Given the description of an element on the screen output the (x, y) to click on. 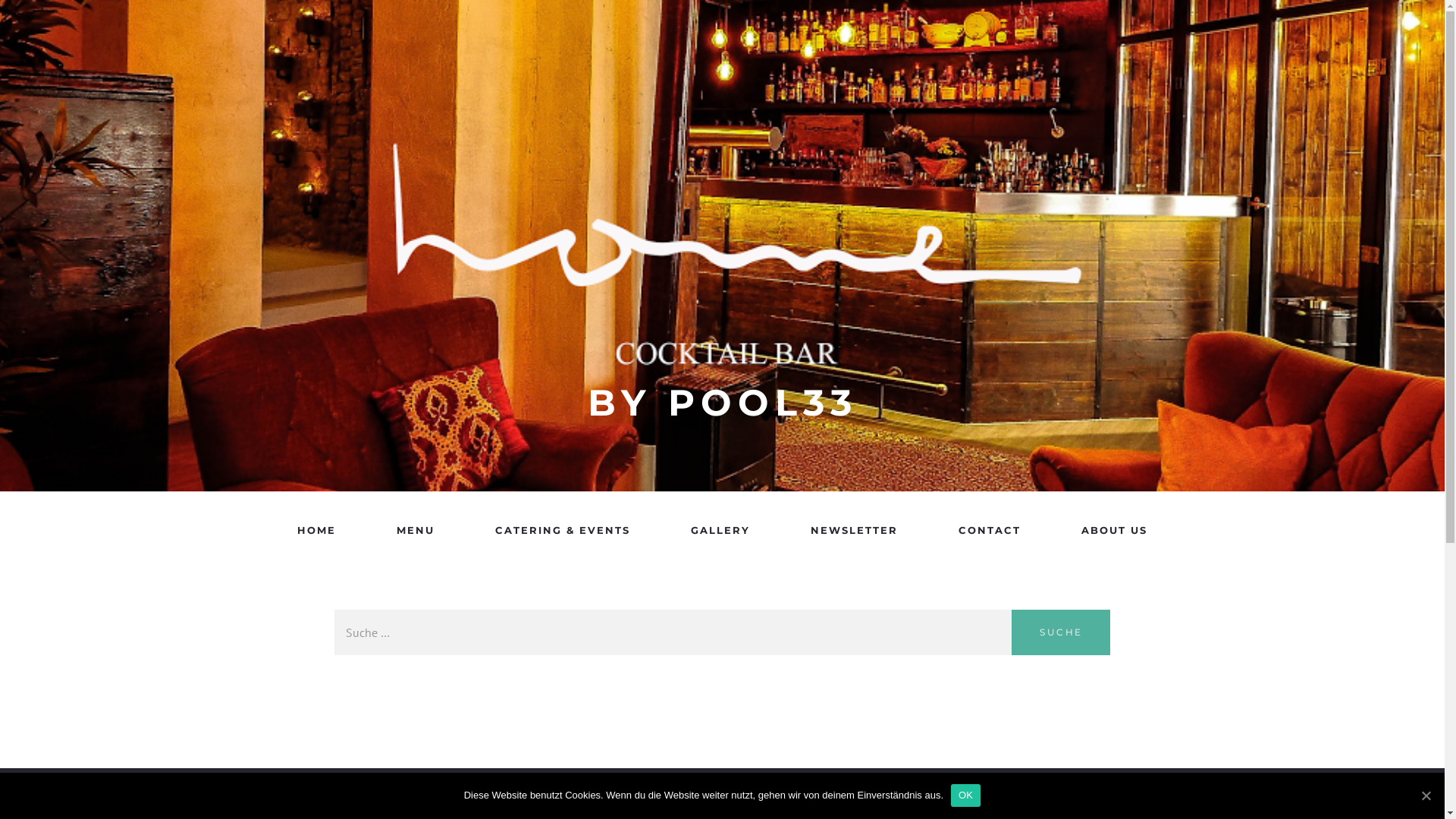
NEWSLETTER Element type: text (854, 529)
ABOUT US Element type: text (1114, 529)
Suche Element type: text (1060, 632)
MENU Element type: text (415, 529)
CONTACT Element type: text (989, 529)
GALLERY Element type: text (720, 529)
CATERING & EVENTS Element type: text (562, 529)
HOME Element type: text (316, 529)
OK Element type: text (965, 795)
